Given the description of an element on the screen output the (x, y) to click on. 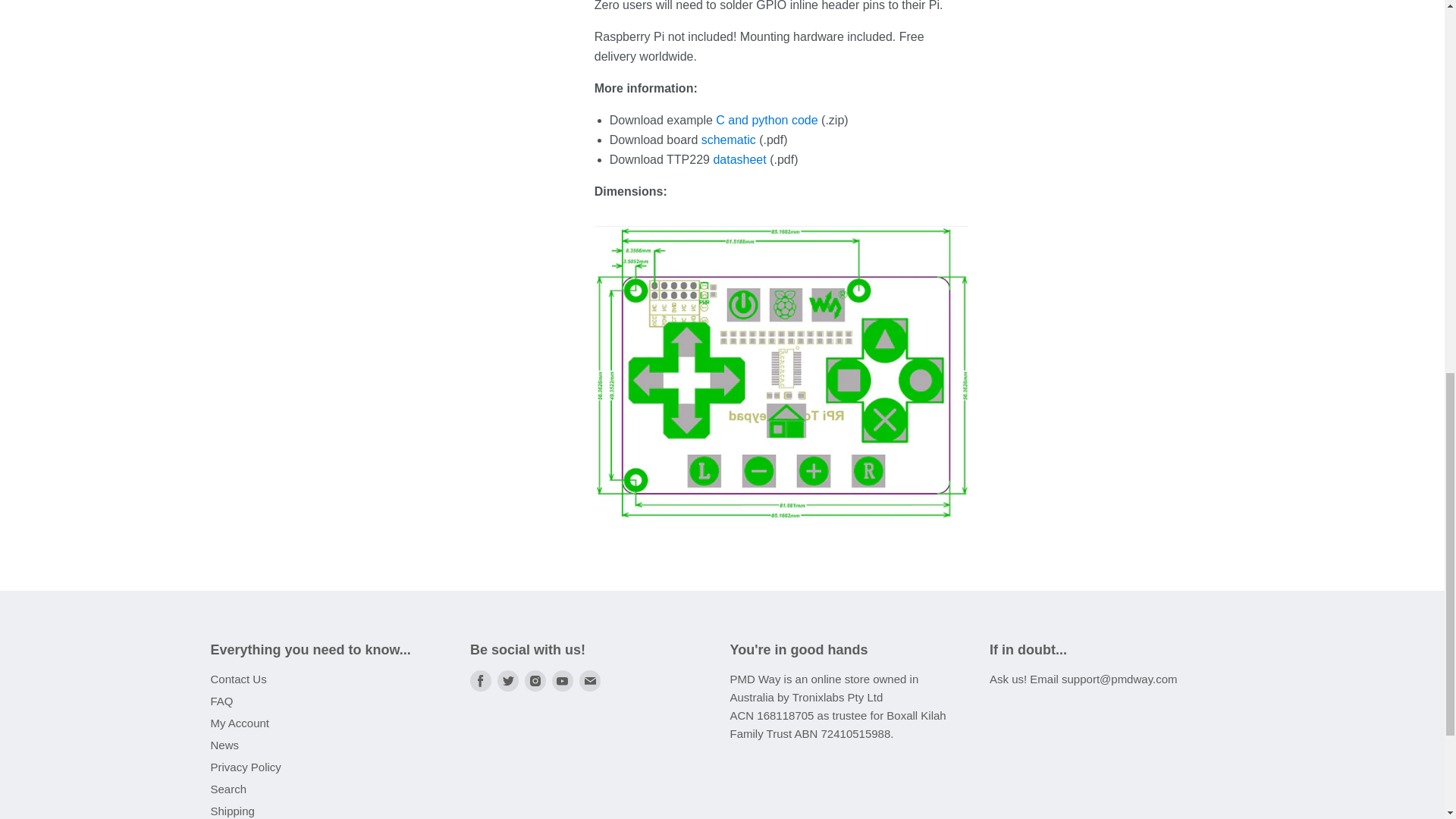
Instagram (534, 680)
Twitter (508, 680)
Youtube (562, 680)
E-mail (590, 680)
Facebook (481, 680)
